Given the description of an element on the screen output the (x, y) to click on. 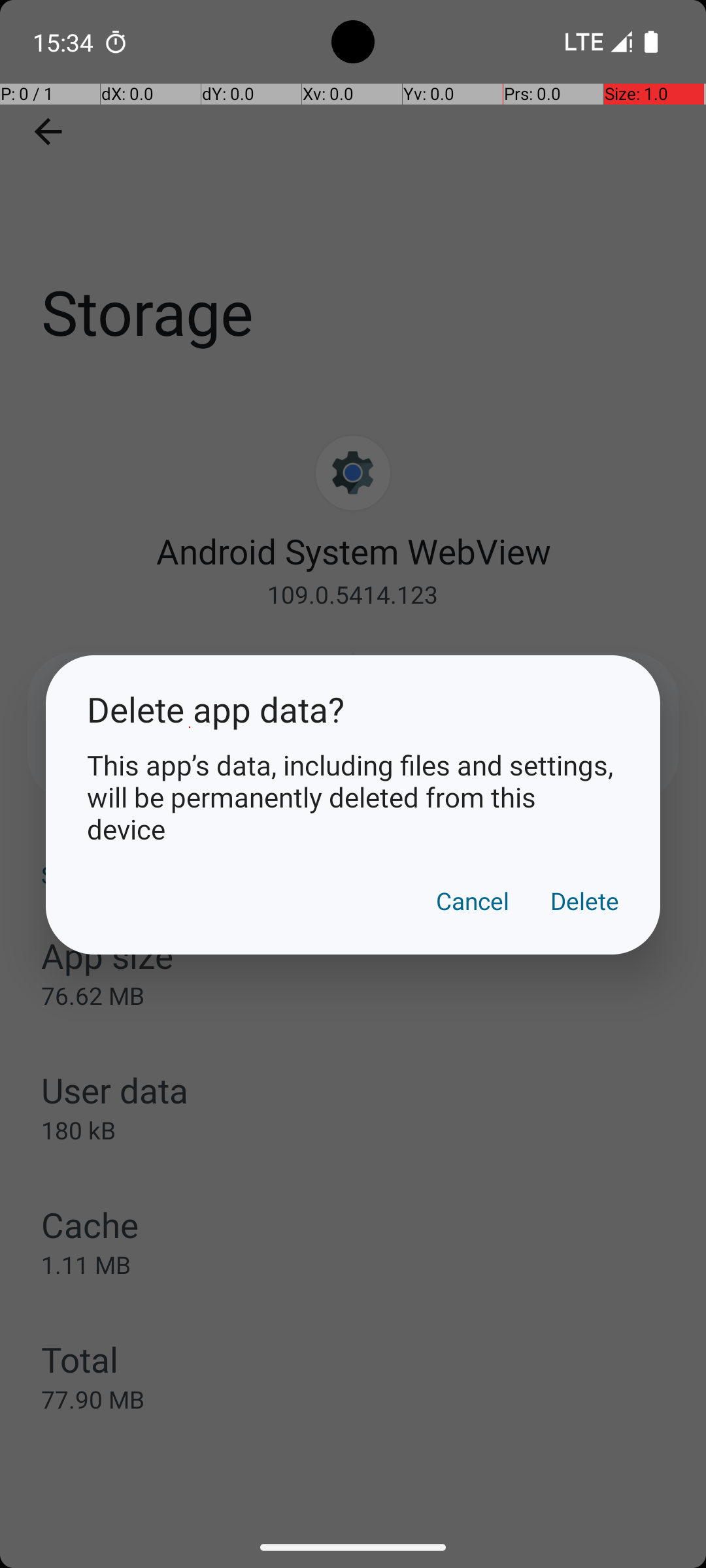
Delete app data? Element type: android.widget.TextView (352, 709)
This app’s data, including files and settings, will be permanently deleted from this device Element type: android.widget.TextView (352, 796)
